Given the description of an element on the screen output the (x, y) to click on. 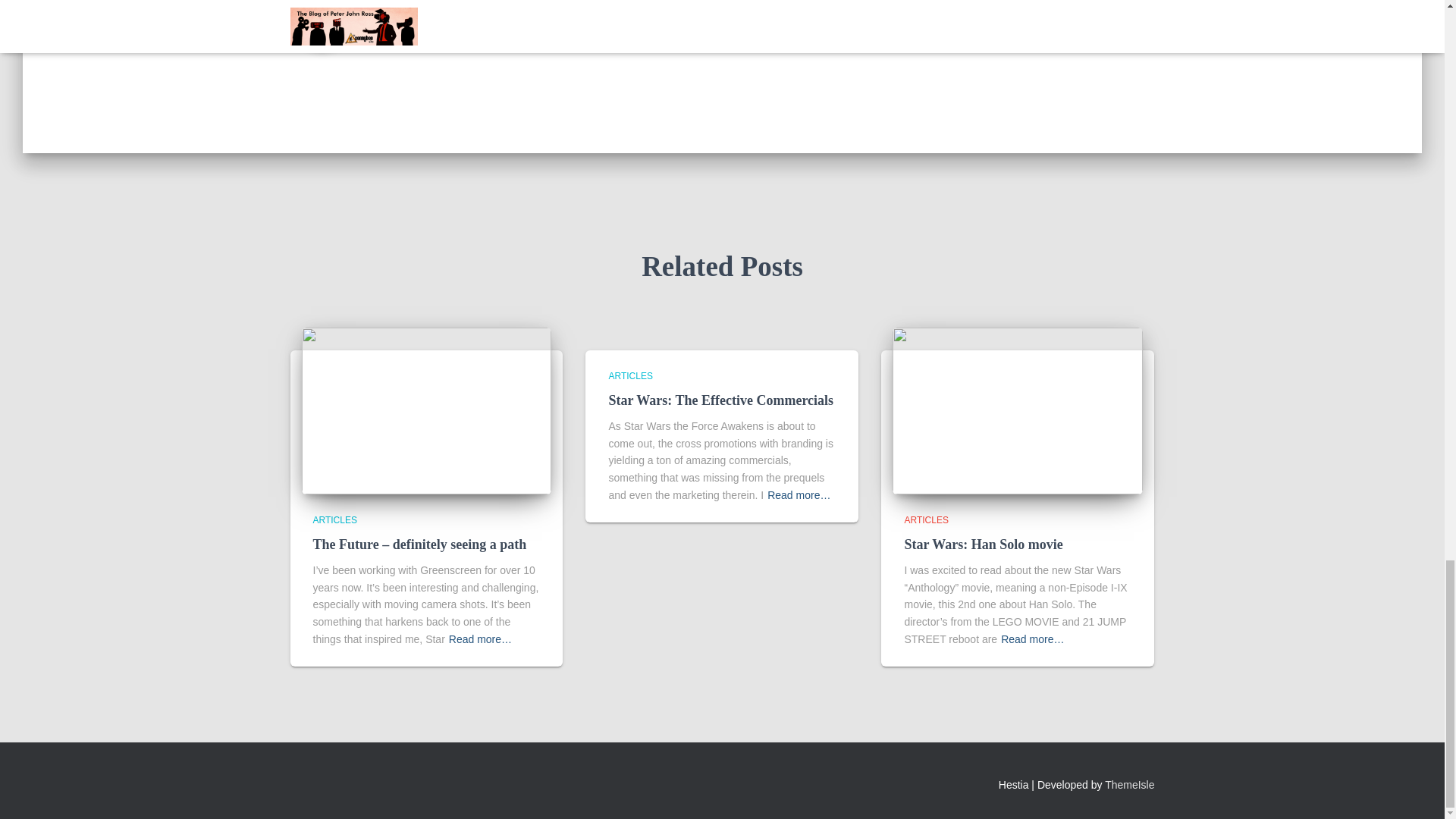
Star Wars: Han Solo movie (983, 544)
Star Wars: Han Solo movie (983, 544)
ARTICLES (630, 376)
View all posts in articles (630, 376)
ARTICLES (334, 520)
logged in (452, 0)
ThemeIsle (1129, 784)
ARTICLES (925, 520)
Star Wars: The Effective Commercials (720, 400)
Star Wars: The Effective Commercials (720, 400)
